Given the description of an element on the screen output the (x, y) to click on. 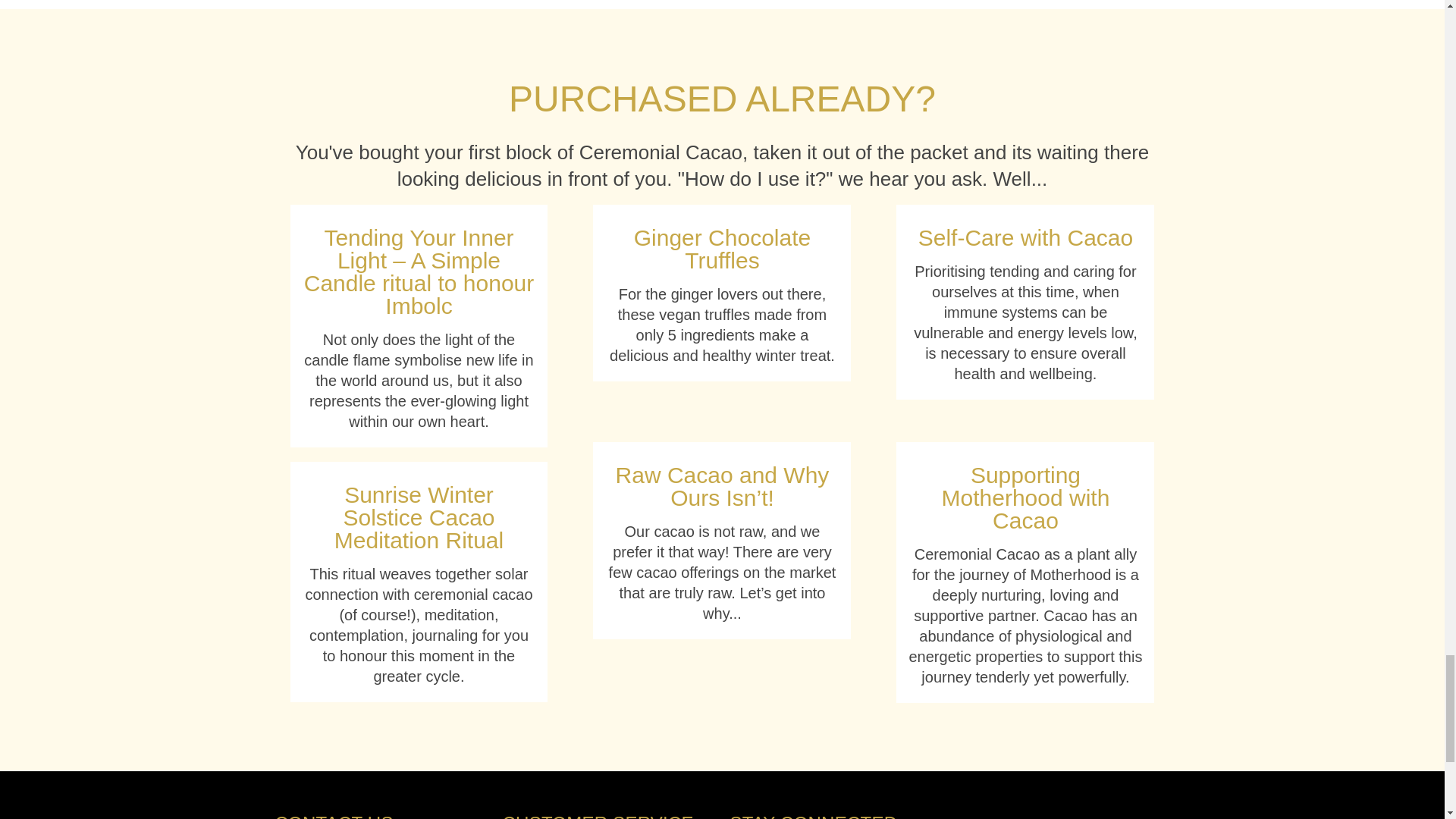
SHOW ALL (722, 98)
